Given the description of an element on the screen output the (x, y) to click on. 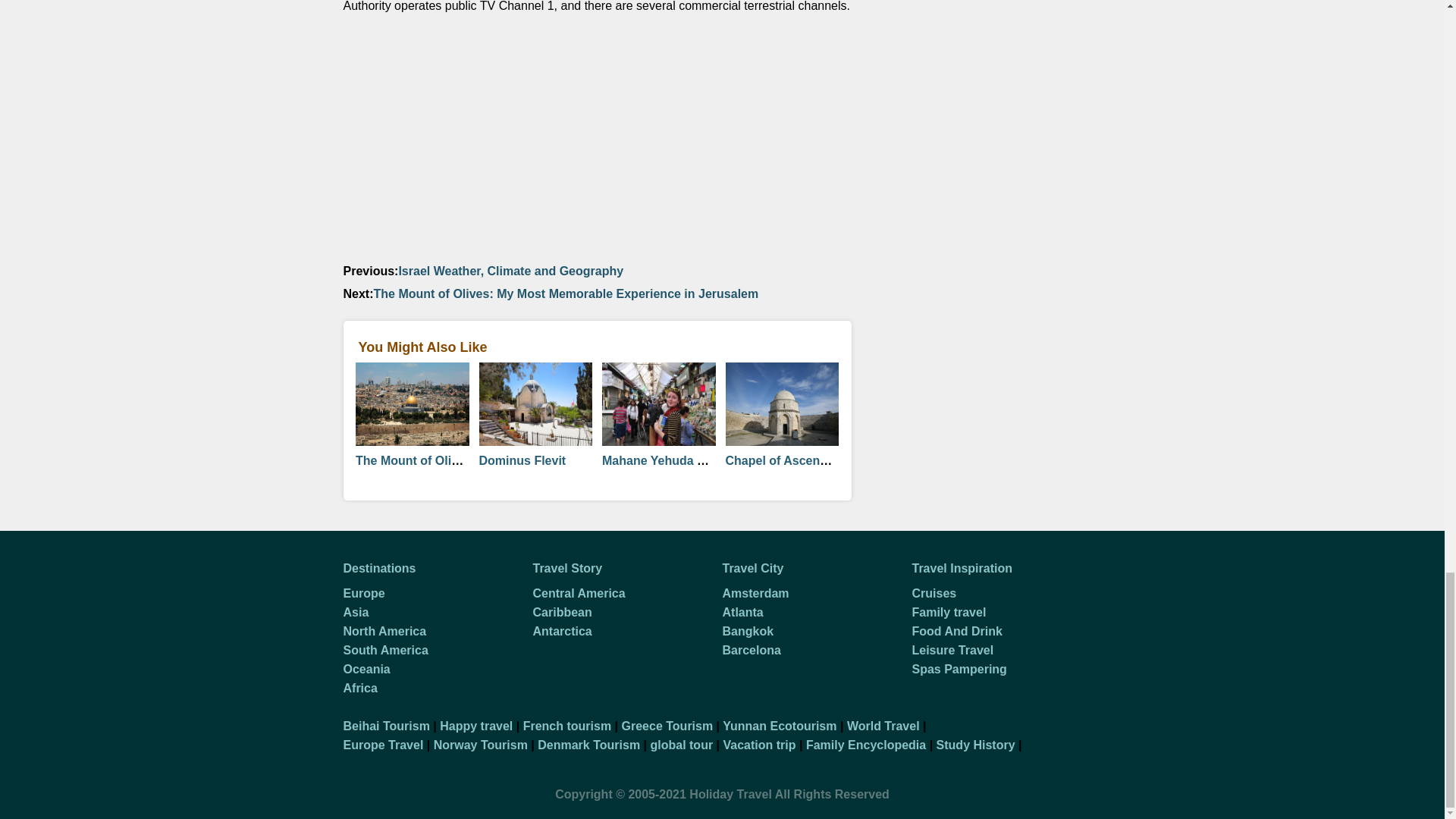
Chapel of Ascension (784, 460)
Dominus Flevit (522, 460)
Israel Weather, Climate and Geography (510, 270)
